Given the description of an element on the screen output the (x, y) to click on. 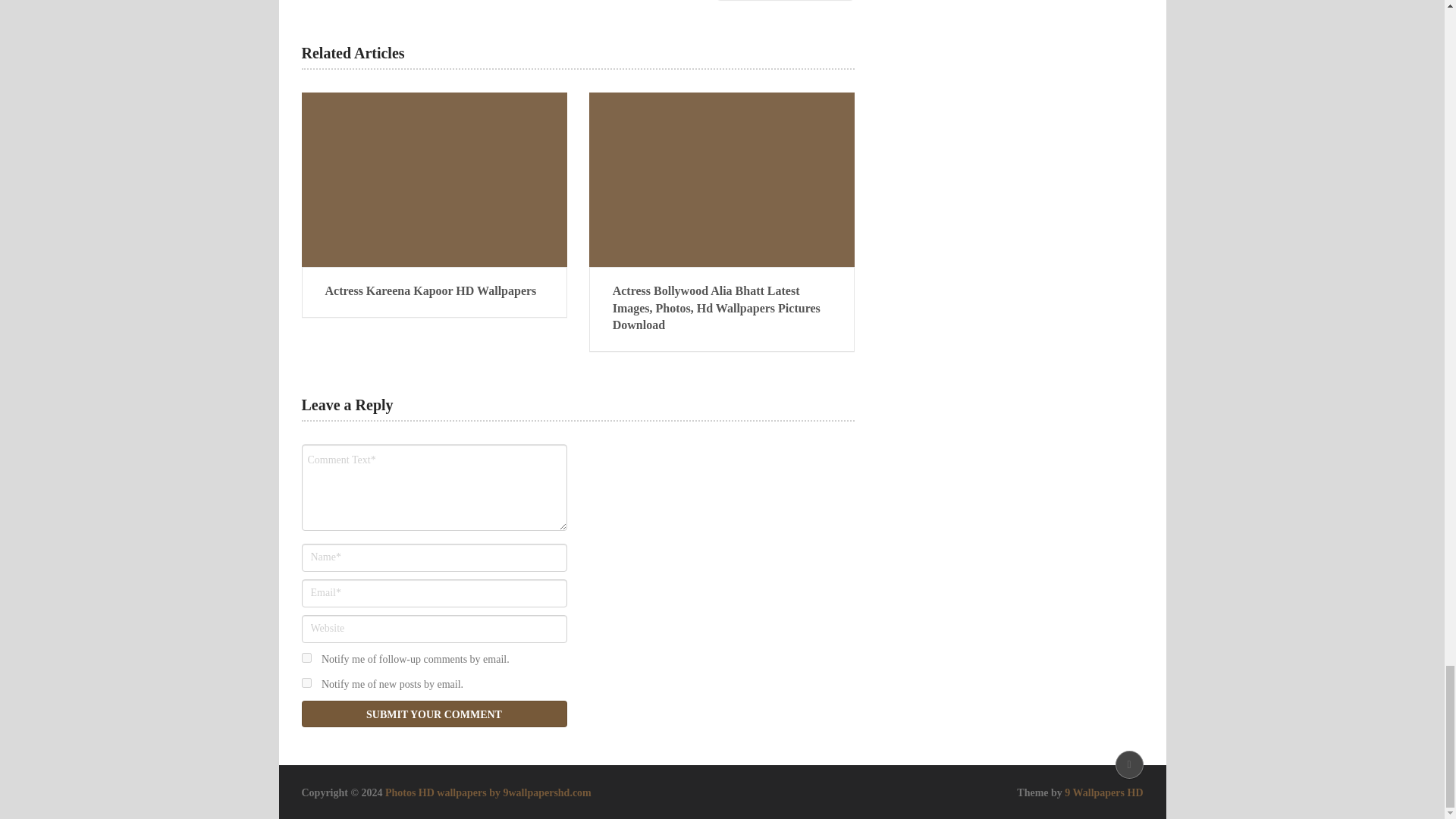
Actress Kareena Kapoor HD Wallpapers (434, 179)
Submit Your Comment (434, 714)
Submit Your Comment (434, 714)
Actress Kareena Kapoor HD Wallpapers (433, 290)
Actress Kareena Kapoor HD Wallpapers (433, 290)
subscribe (306, 682)
subscribe (306, 657)
